Given the description of an element on the screen output the (x, y) to click on. 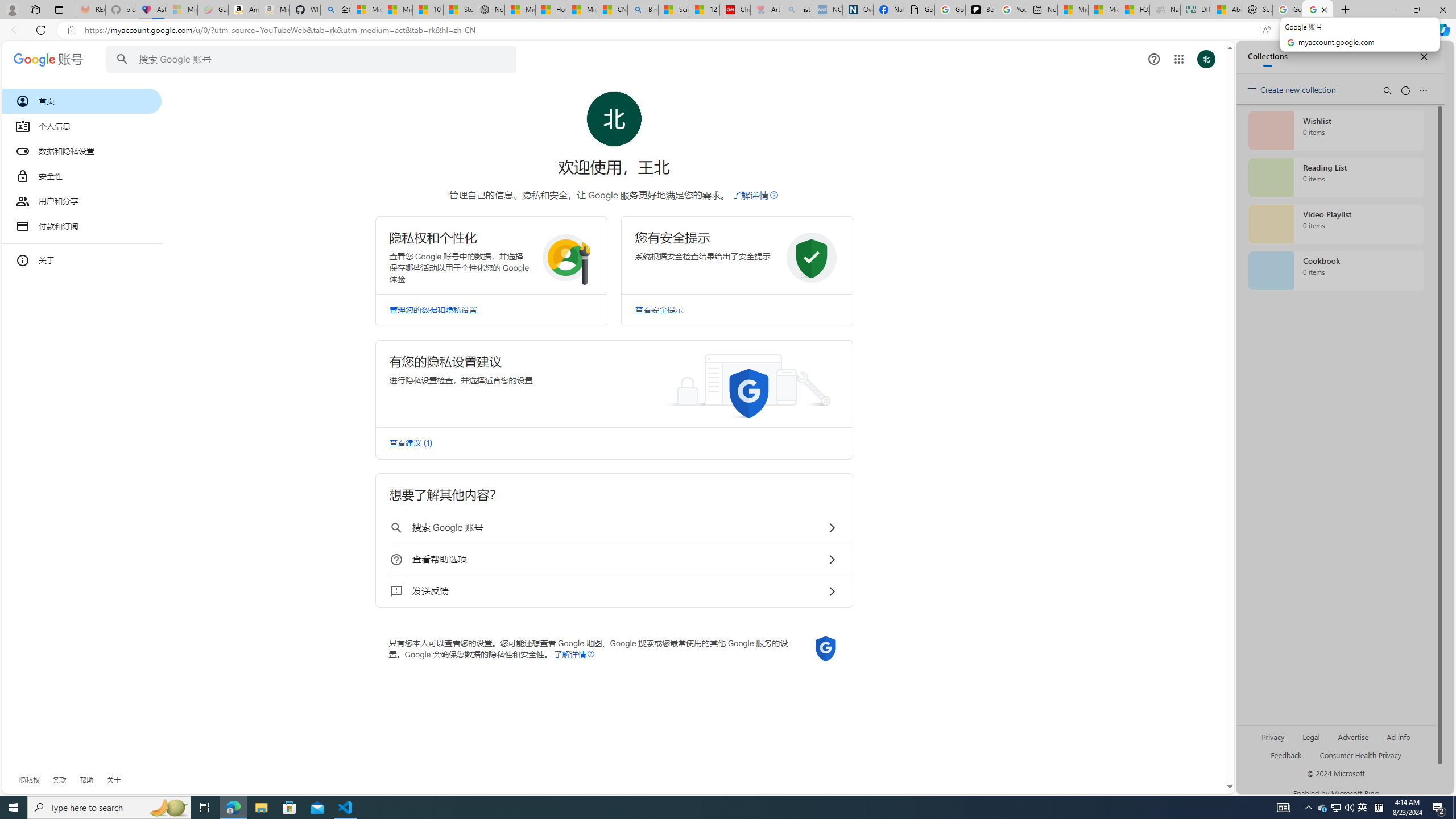
Google Analytics Opt-out Browser Add-on Download Page (919, 9)
Aberdeen, Hong Kong SAR hourly forecast | Microsoft Weather (1226, 9)
